Given the description of an element on the screen output the (x, y) to click on. 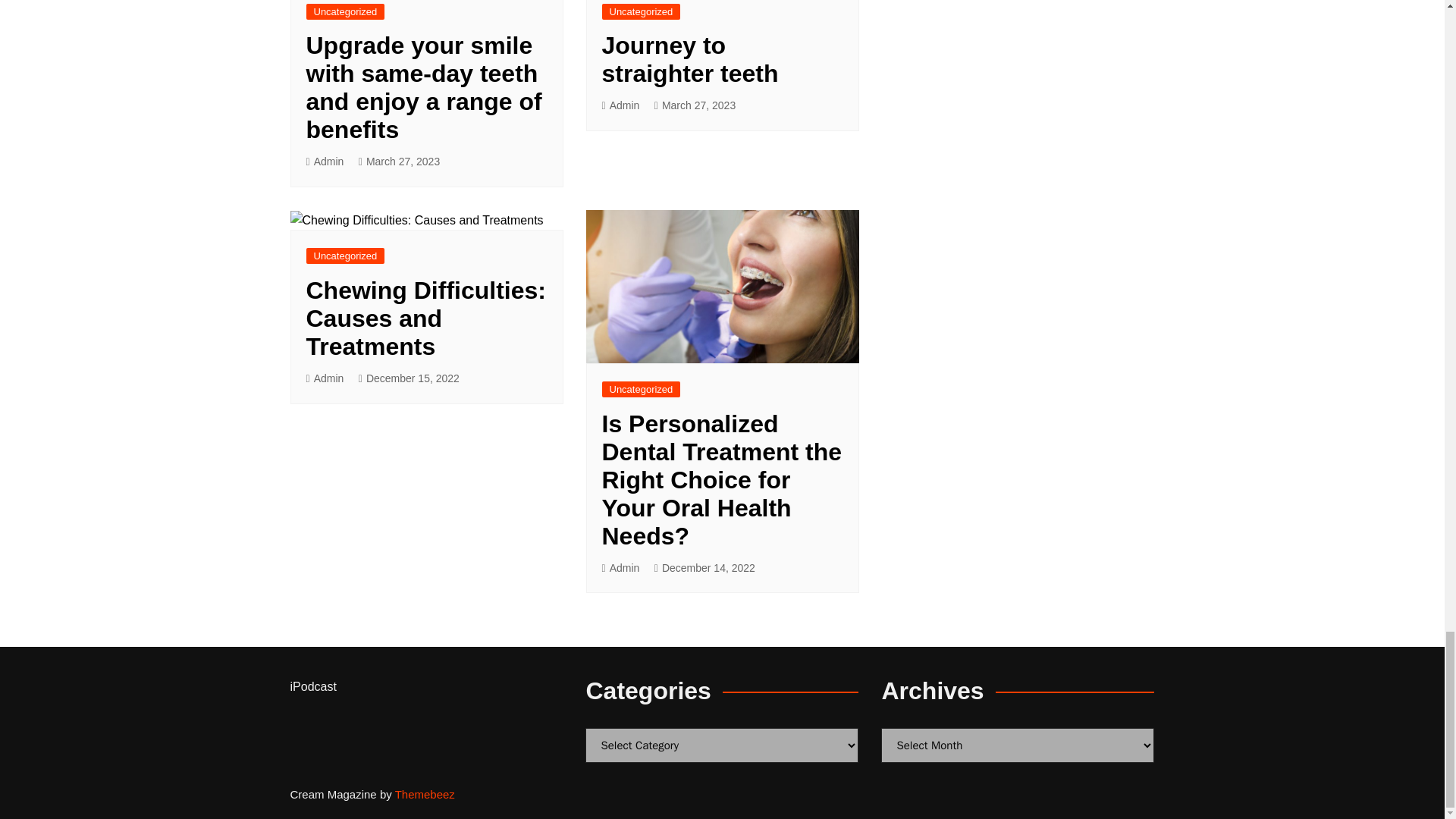
March 27, 2023 (398, 161)
Uncategorized (345, 11)
Admin (324, 161)
Uncategorized (641, 11)
Journey to straighter teeth (690, 58)
